Given the description of an element on the screen output the (x, y) to click on. 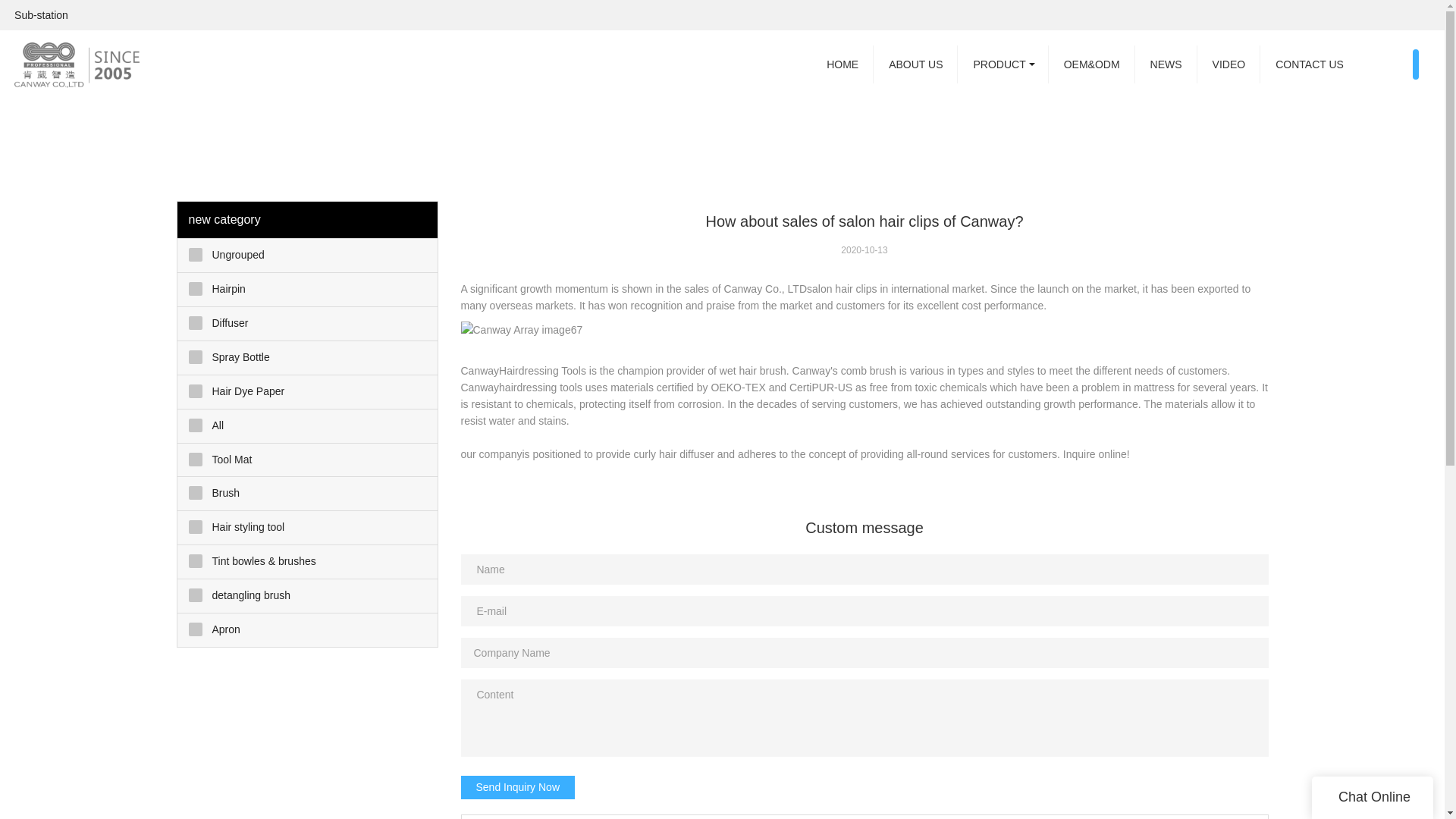
All (307, 426)
Brush (307, 493)
NEWS (1165, 64)
Apron (307, 630)
Tool Mat (307, 459)
VIDEO (1228, 64)
CONTACT US (1309, 64)
Diffuser (307, 323)
HOME (841, 64)
Hair styling tool (307, 527)
